Given the description of an element on the screen output the (x, y) to click on. 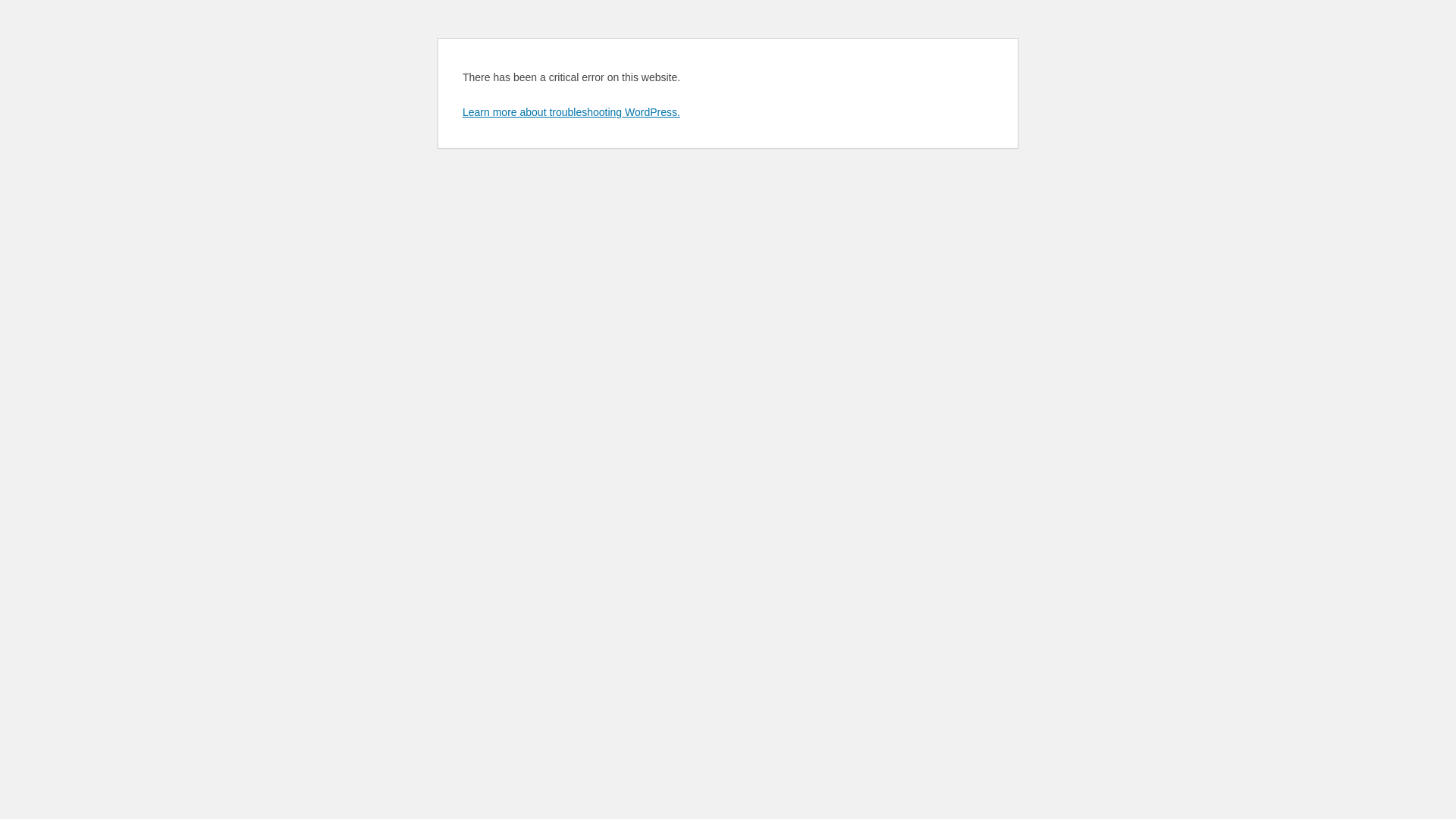
Learn more about troubleshooting WordPress. Element type: text (571, 112)
